Given the description of an element on the screen output the (x, y) to click on. 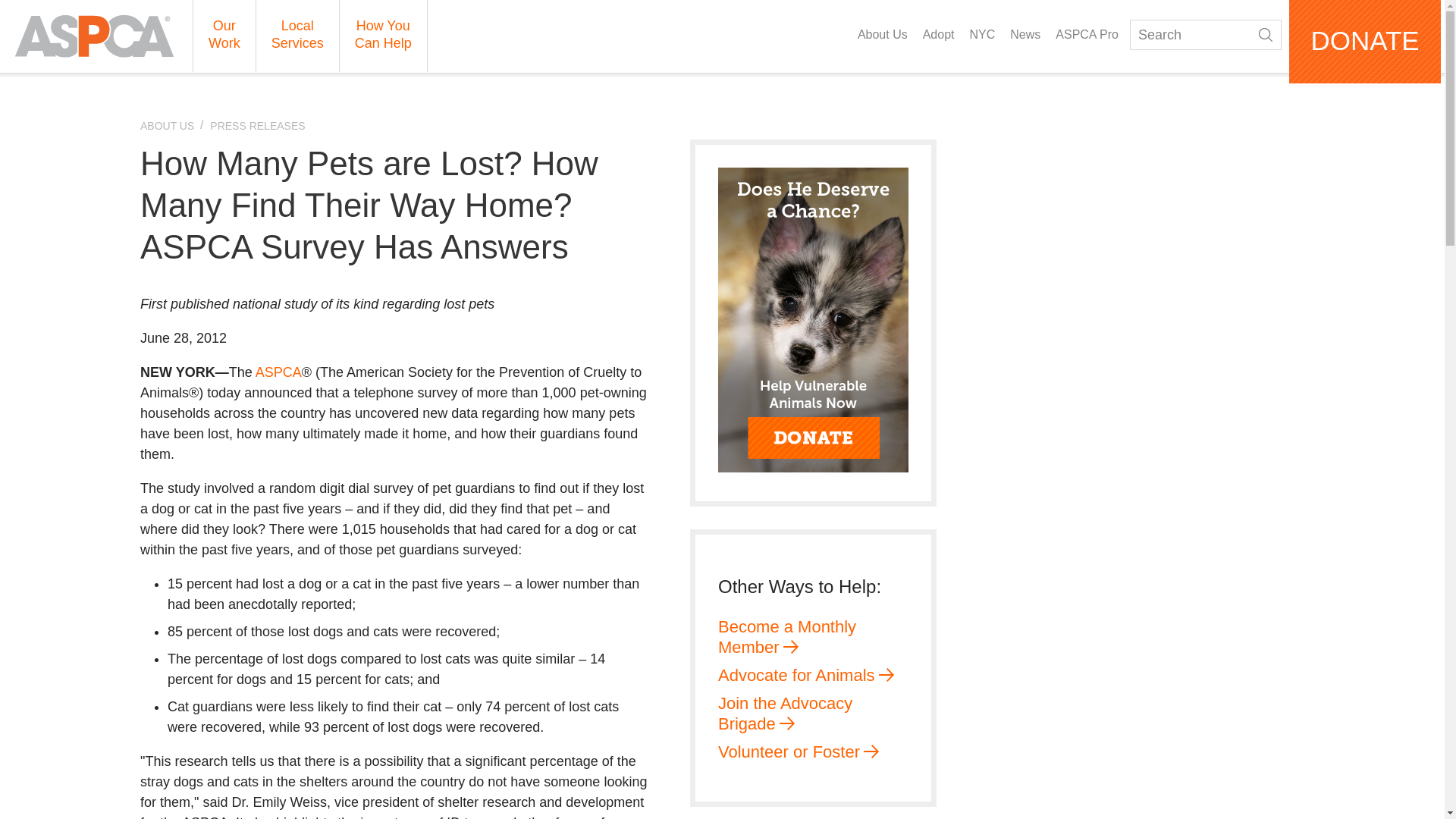
Search (1205, 34)
Home (93, 36)
Search (1265, 34)
